Given the description of an element on the screen output the (x, y) to click on. 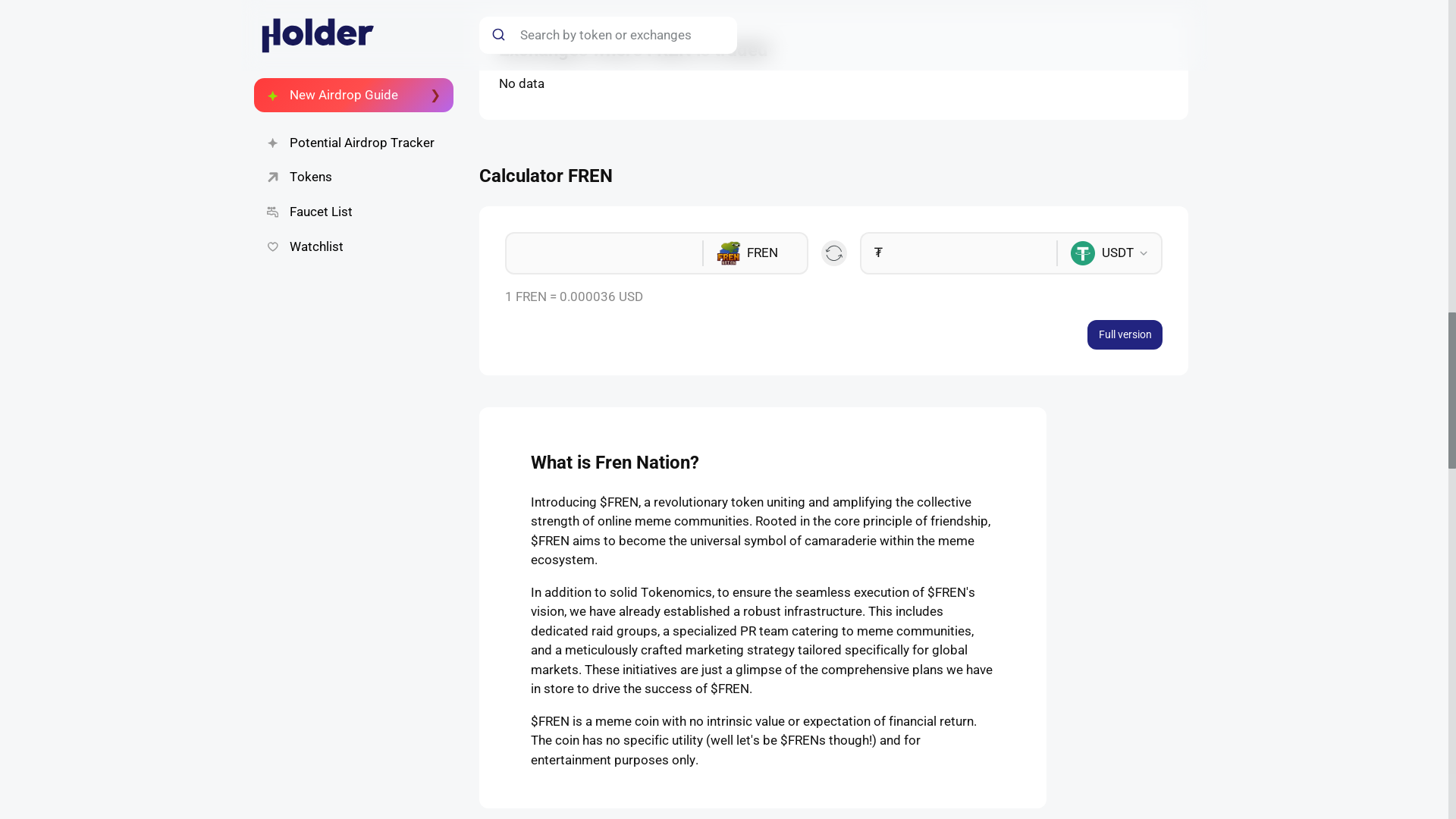
Full version (1124, 334)
